Given the description of an element on the screen output the (x, y) to click on. 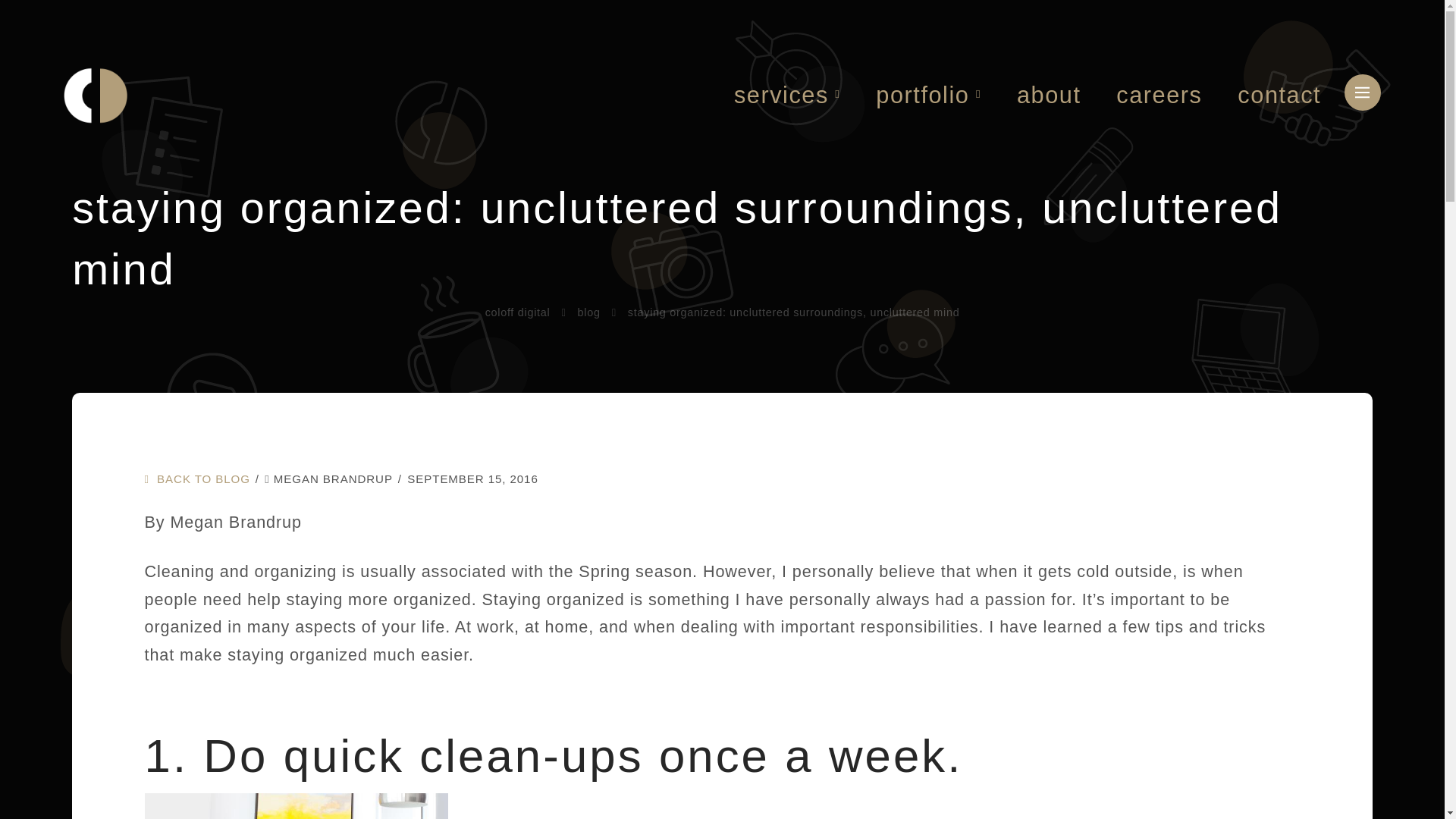
You Are Here (793, 312)
about (1047, 96)
portfolio (927, 96)
coloff digital (517, 312)
services (786, 96)
blog (588, 312)
careers (1158, 96)
  BACK TO BLOG (196, 478)
contact (1279, 96)
